Given the description of an element on the screen output the (x, y) to click on. 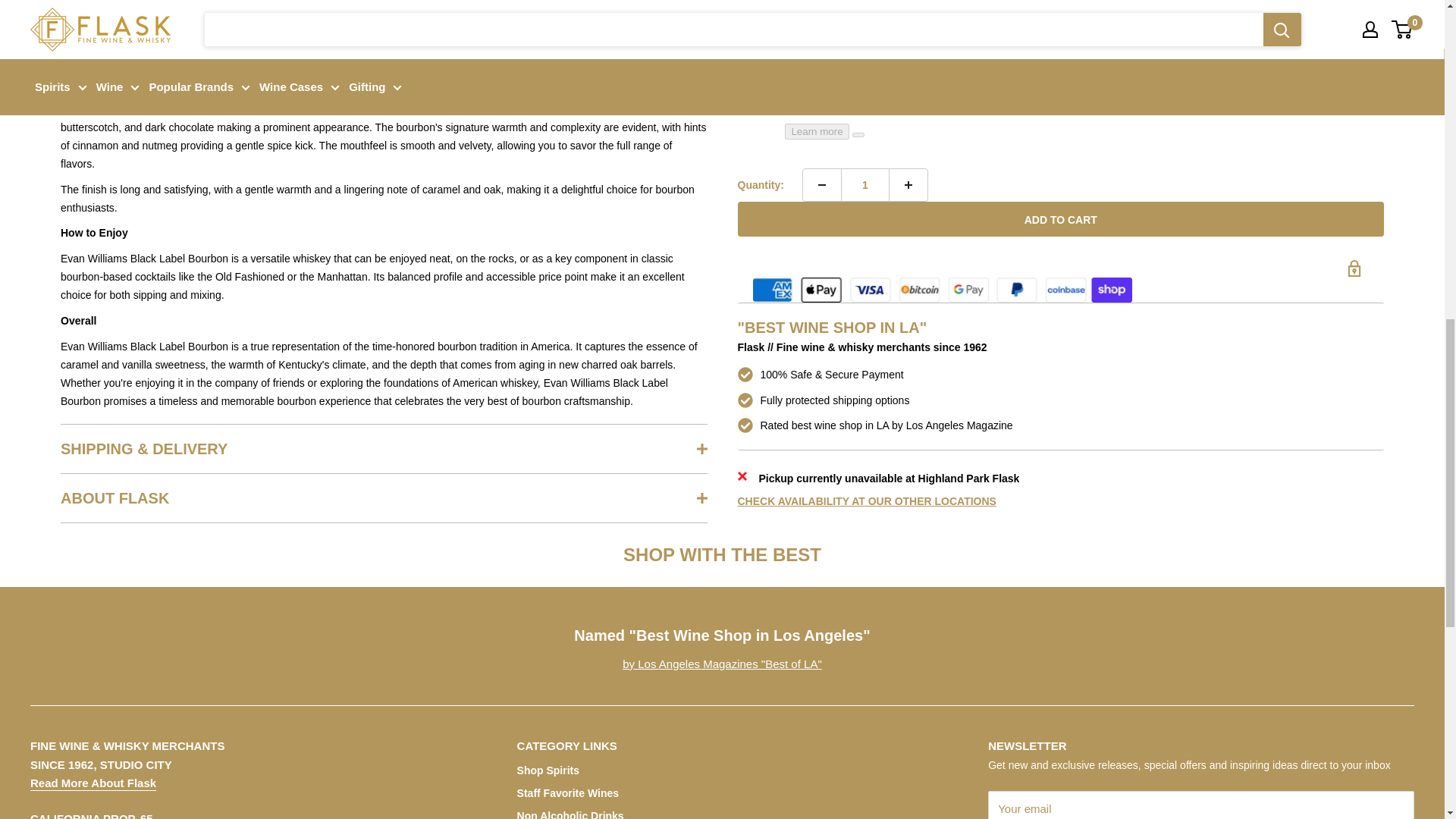
About Us (92, 782)
